Given the description of an element on the screen output the (x, y) to click on. 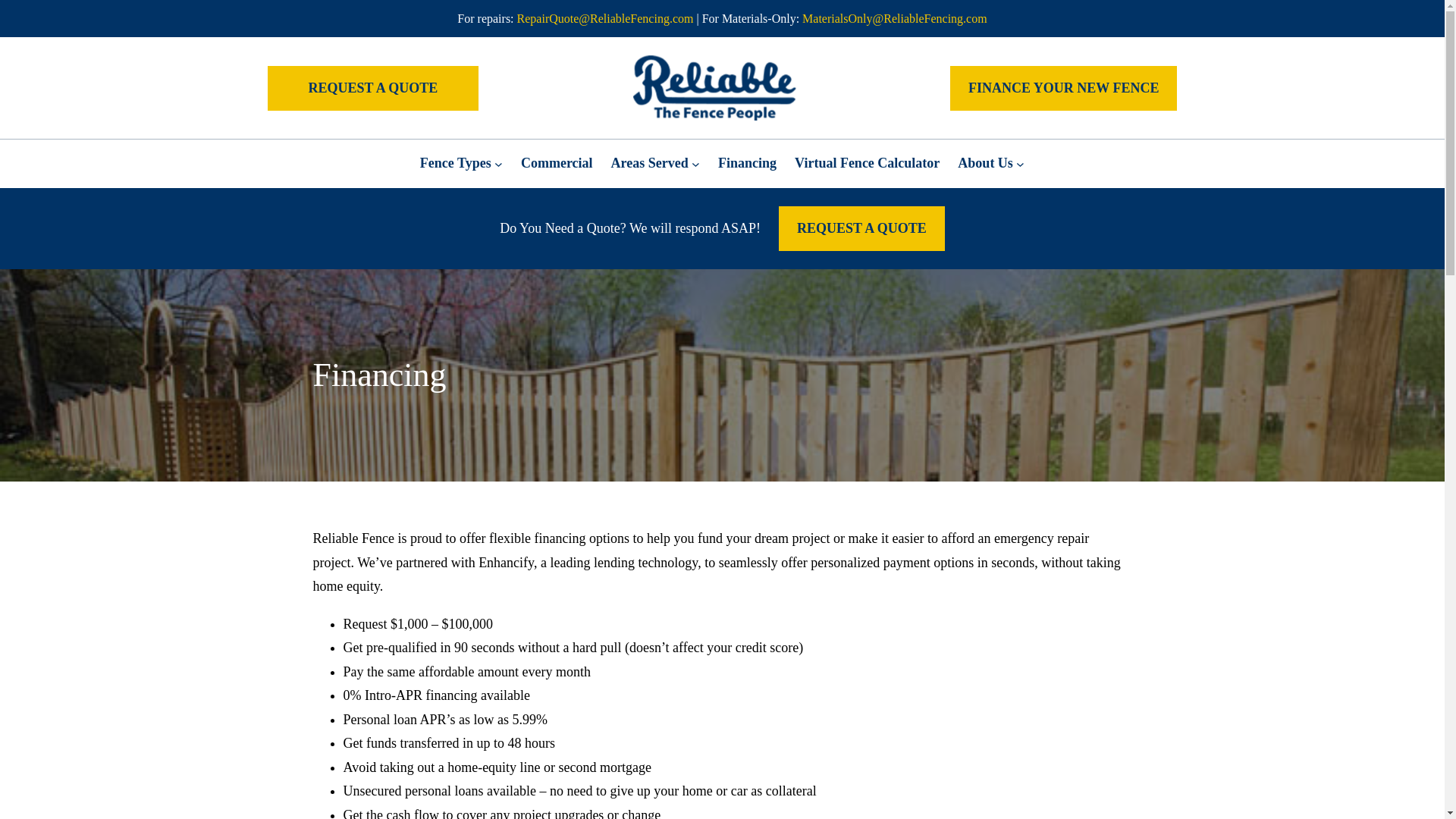
Areas Served (649, 163)
Commercial (556, 163)
Fence Types (456, 163)
REQUEST A QUOTE (372, 88)
FINANCE YOUR NEW FENCE (1063, 88)
